Given the description of an element on the screen output the (x, y) to click on. 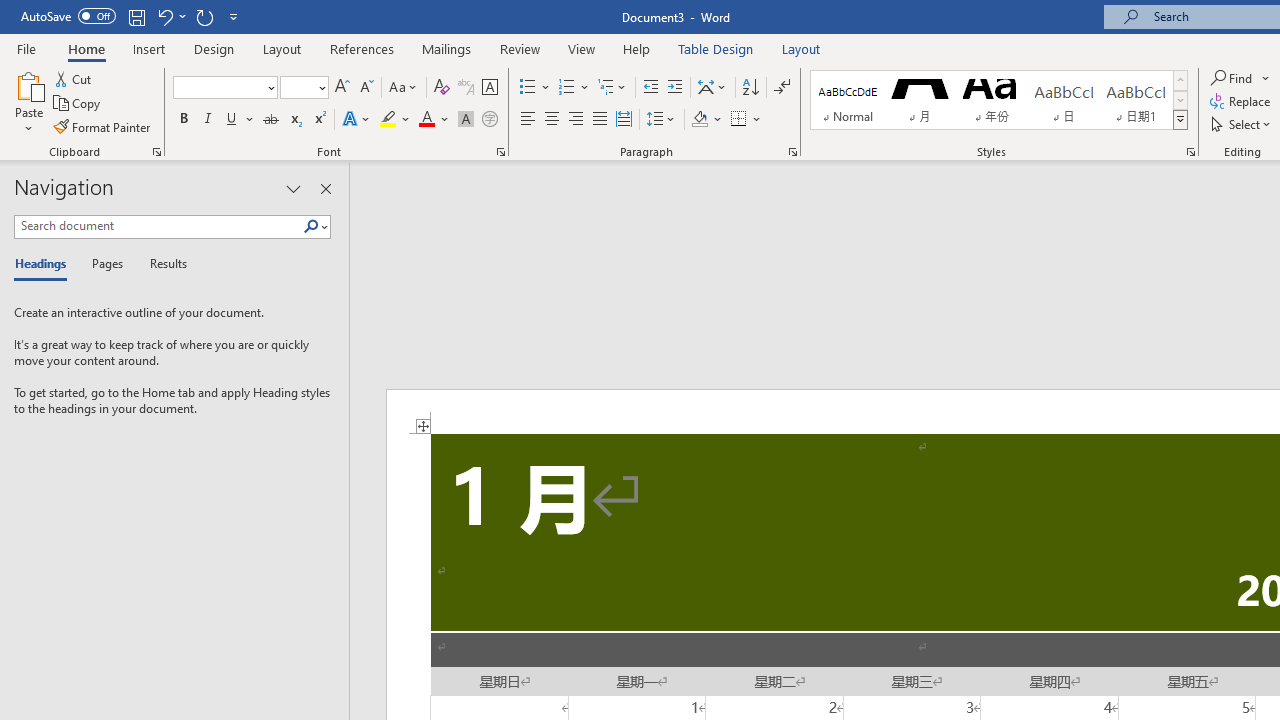
Font Color RGB(255, 0, 0) (426, 119)
Repeat Doc Close (204, 15)
Find (1233, 78)
Close pane (325, 188)
Headings (45, 264)
Cut (73, 78)
Text Effects and Typography (357, 119)
Align Left (527, 119)
Row Down (1179, 100)
Insert (149, 48)
Results (161, 264)
Font... (500, 151)
